Given the description of an element on the screen output the (x, y) to click on. 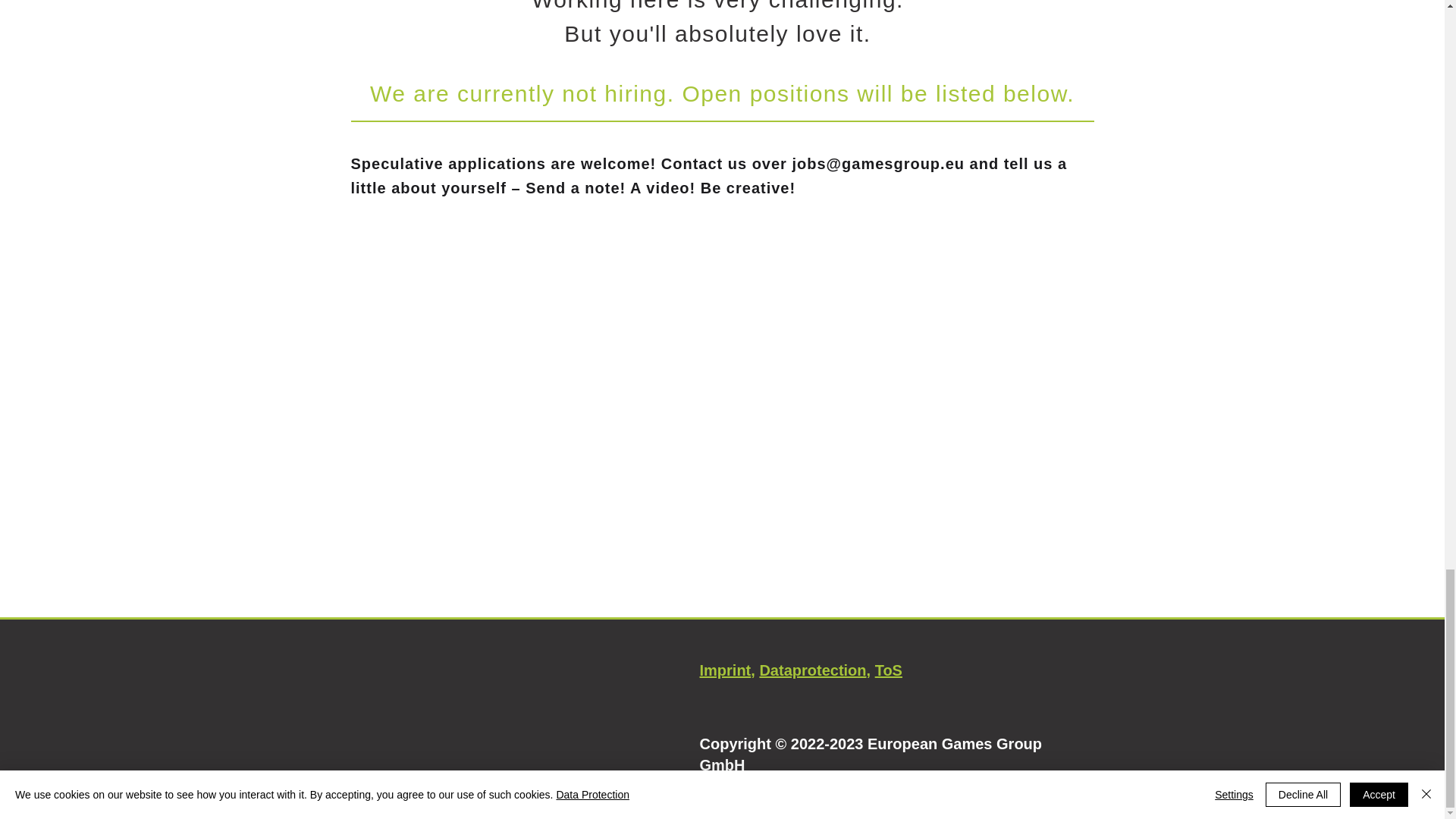
ToS (888, 669)
Dataprotection (812, 669)
Imprint (724, 669)
